Given the description of an element on the screen output the (x, y) to click on. 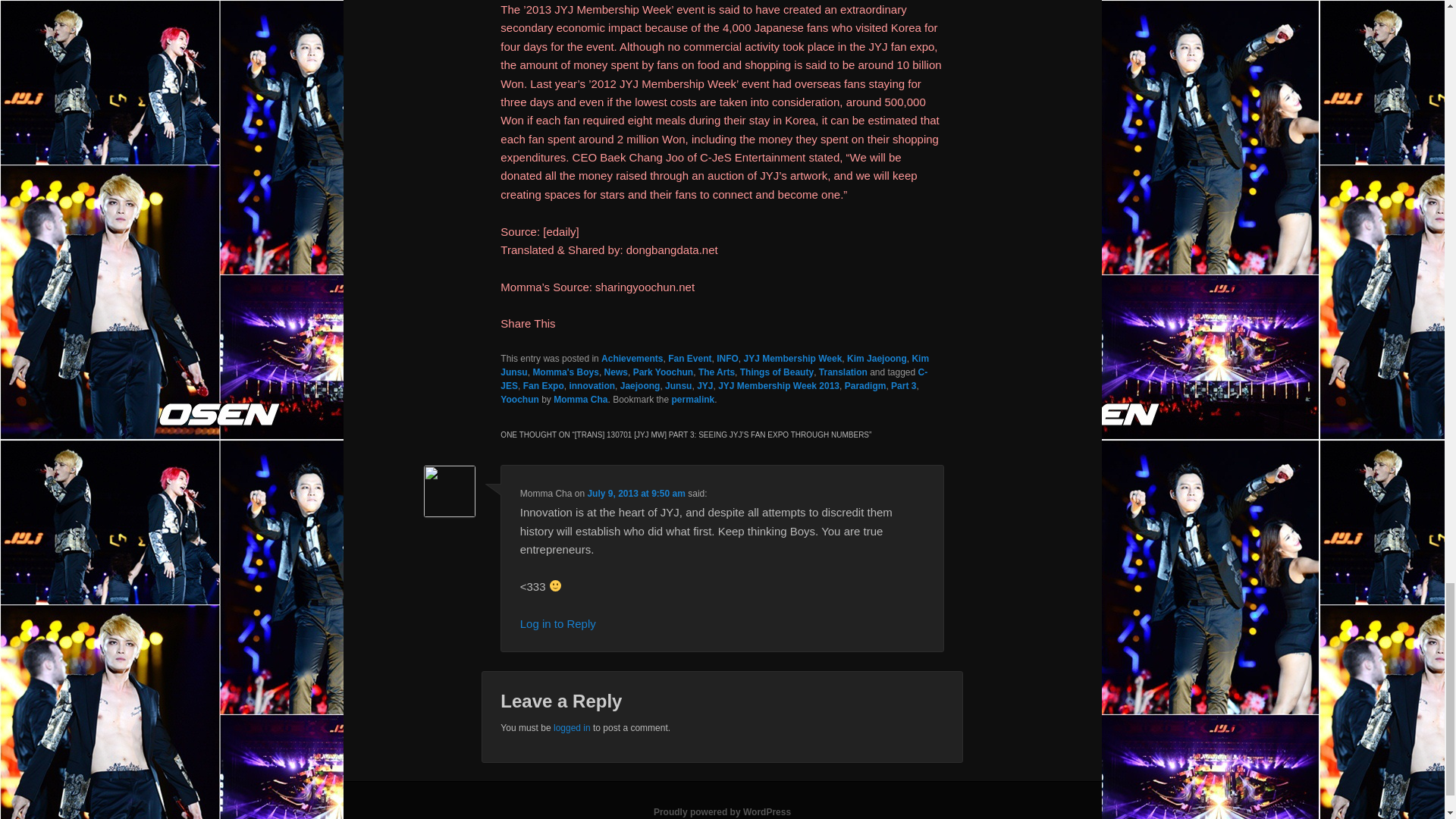
The Arts (716, 371)
Translation (842, 371)
Park Yoochun (663, 371)
Semantic Personal Publishing Platform (721, 811)
JYJ (705, 385)
Jaejoong (640, 385)
Momma's Boys (565, 371)
Achievements (631, 357)
Things of Beauty (776, 371)
INFO (727, 357)
